Given the description of an element on the screen output the (x, y) to click on. 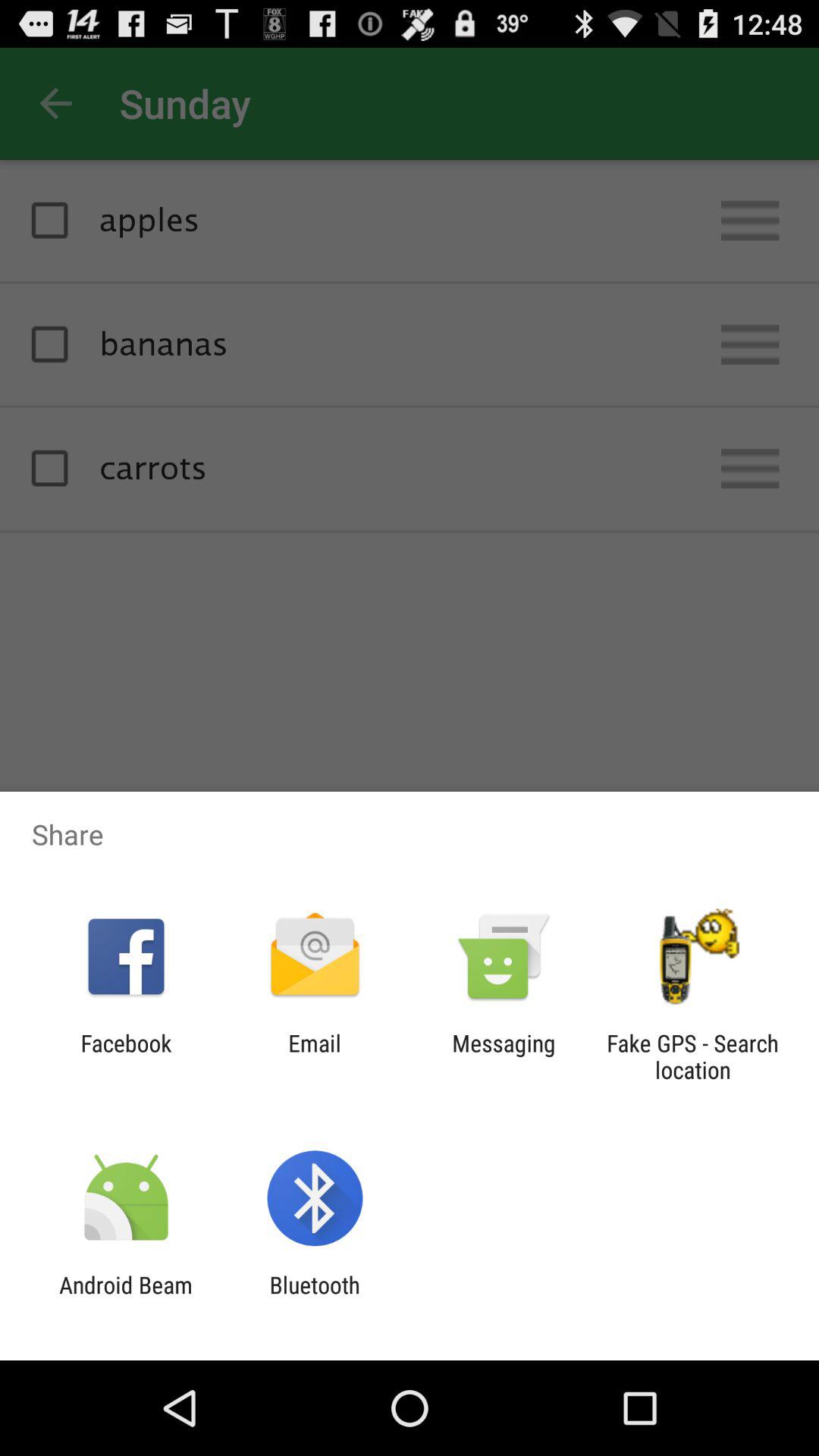
select fake gps search item (692, 1056)
